Given the description of an element on the screen output the (x, y) to click on. 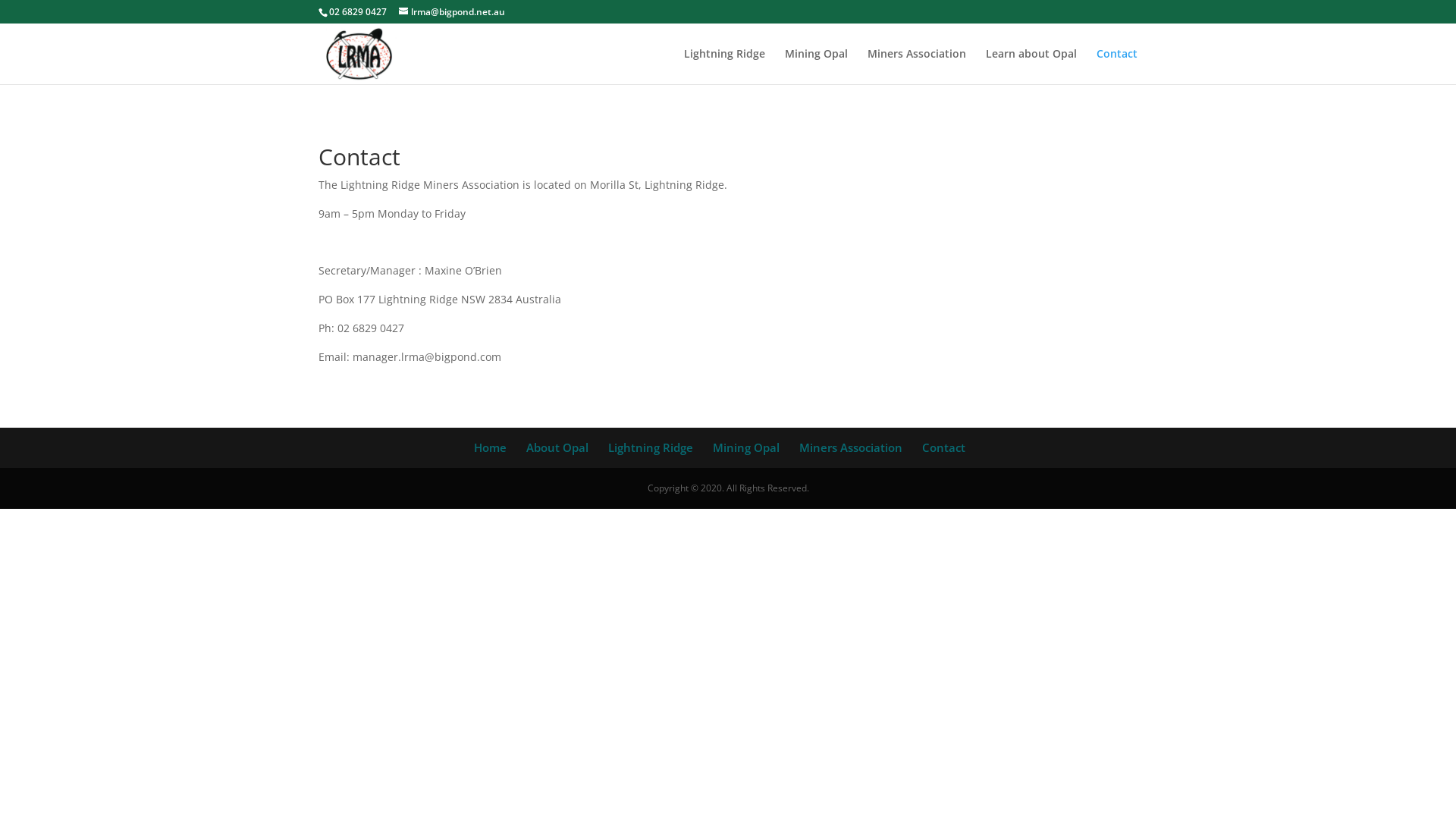
Lightning Ridge Element type: text (650, 447)
About Opal Element type: text (557, 447)
Learn about Opal Element type: text (1030, 66)
Contact Element type: text (943, 447)
Miners Association Element type: text (916, 66)
Miners Association Element type: text (850, 447)
Contact Element type: text (1116, 66)
lrma@bigpond.net.au Element type: text (451, 11)
Mining Opal Element type: text (815, 66)
Lightning Ridge Element type: text (724, 66)
Home Element type: text (489, 447)
Mining Opal Element type: text (745, 447)
